Given the description of an element on the screen output the (x, y) to click on. 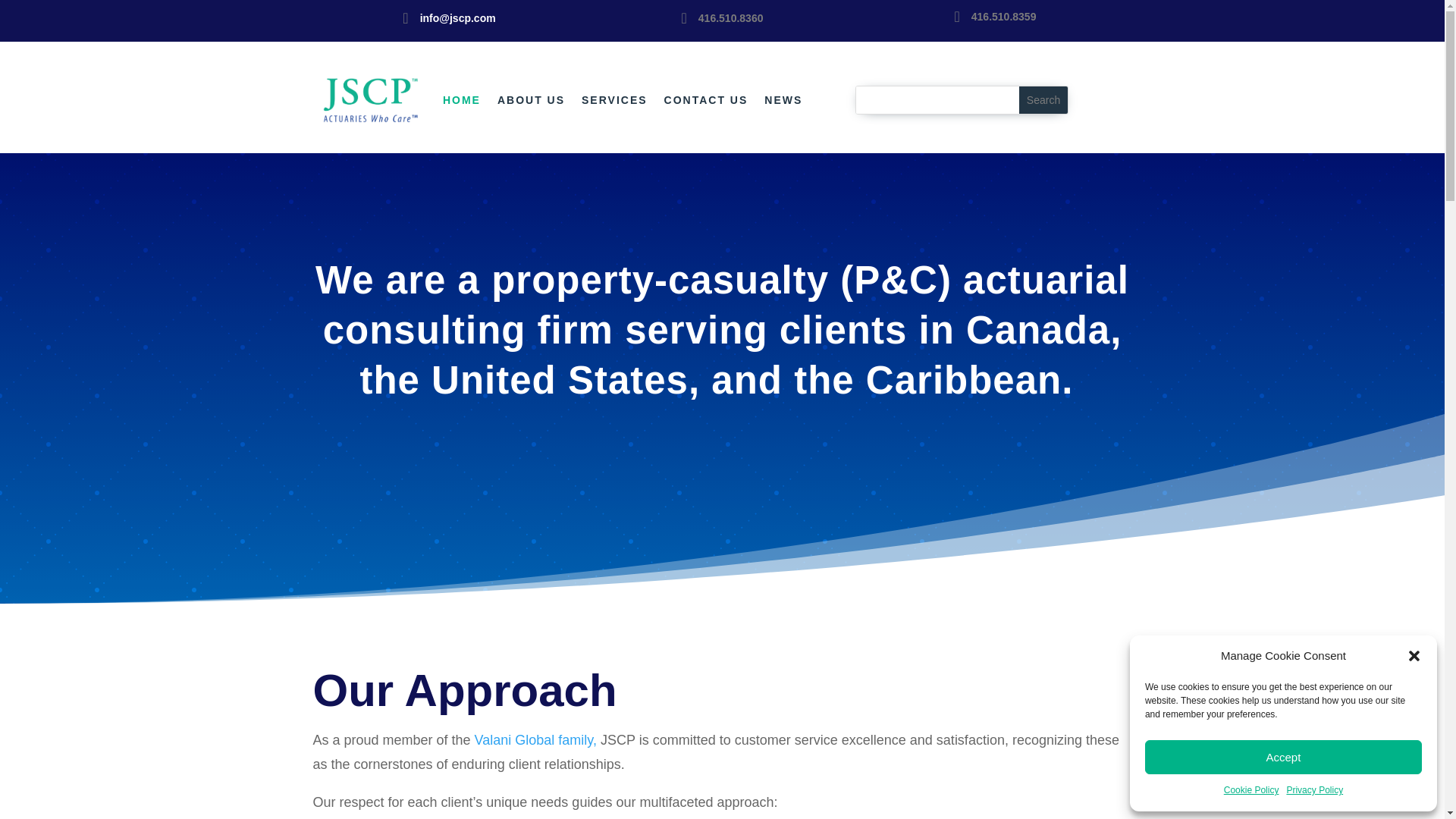
CONTACT US (705, 99)
Valani Global family, (535, 739)
Search (1043, 99)
Search (1043, 99)
SERVICES (613, 99)
416.510.8359 (1003, 16)
ABOUT US (530, 99)
Accept (1283, 756)
416.510.8360 (730, 18)
Search (1043, 99)
Privacy Policy (1313, 791)
Cookie Policy (1251, 791)
